Given the description of an element on the screen output the (x, y) to click on. 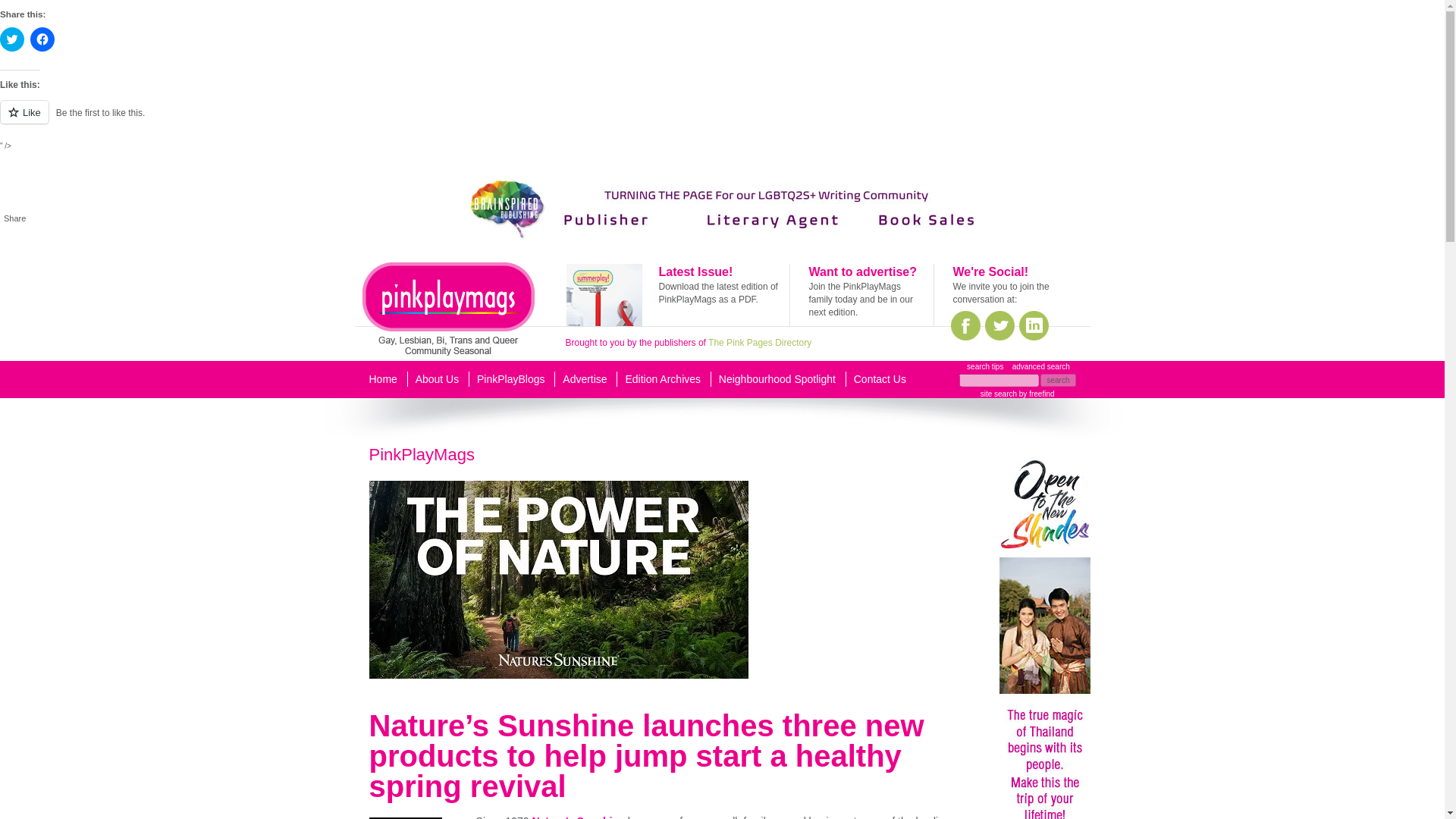
advanced search (1040, 366)
search (1058, 379)
Neighbourhood Spotlight (777, 378)
Click to share on Facebook (42, 39)
by freefind (1035, 393)
Edition Archives (662, 378)
site search (997, 393)
PinkPlayBlogs (510, 378)
Advertise (584, 378)
Download the latest edition of PinkPlayMags as a PDF. (717, 292)
Click to share on Twitter (12, 39)
search (1058, 379)
search tips (984, 366)
About Us (437, 378)
The Pink Pages Directory (758, 342)
